Given the description of an element on the screen output the (x, y) to click on. 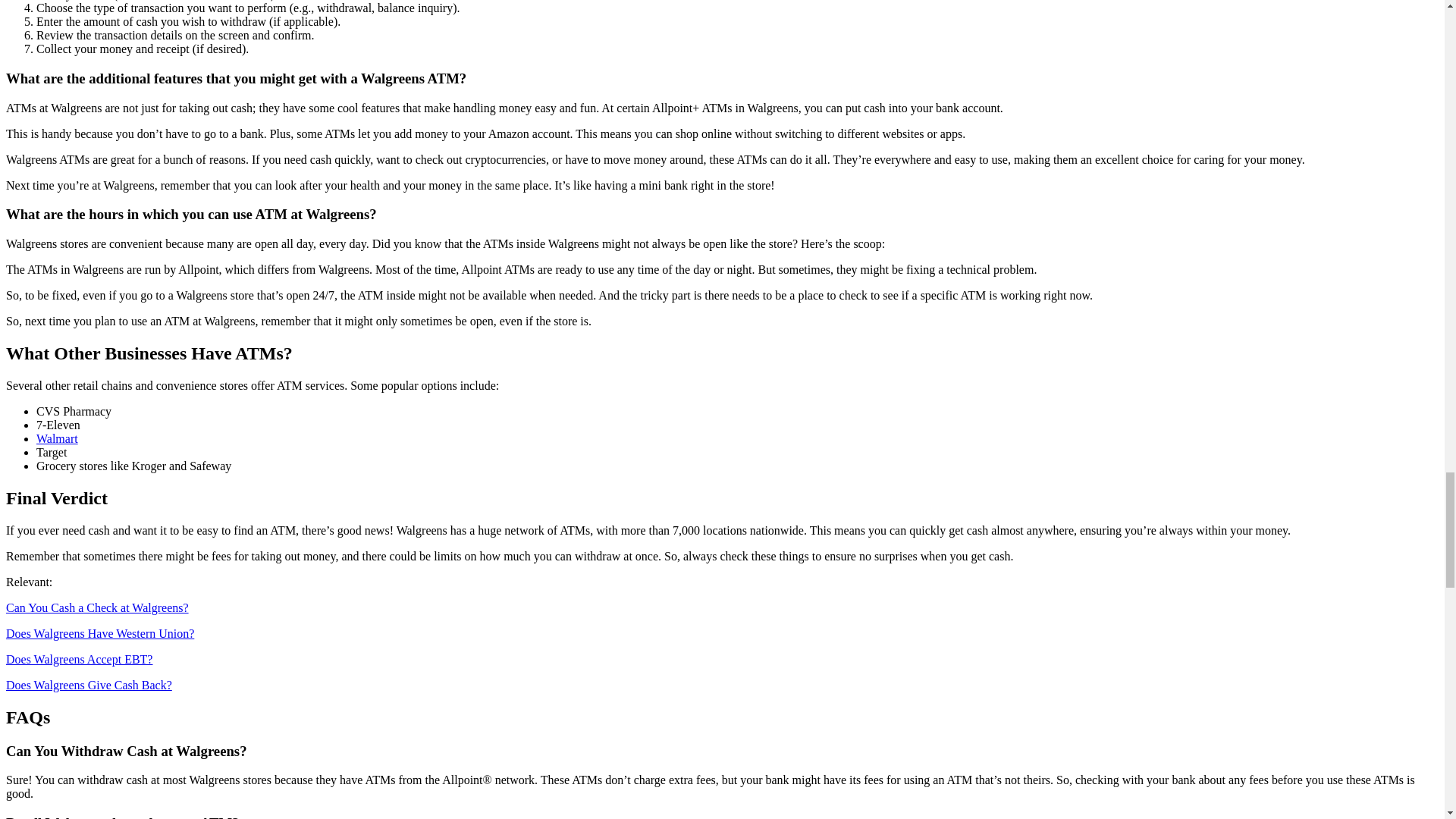
Does Walgreens Have Western Union? (99, 633)
Does Walgreens Accept EBT? (78, 658)
Can You Cash a Check at Walgreens? (97, 607)
Does Walgreens Give Cash Back? (88, 684)
Walmart (57, 438)
